Given the description of an element on the screen output the (x, y) to click on. 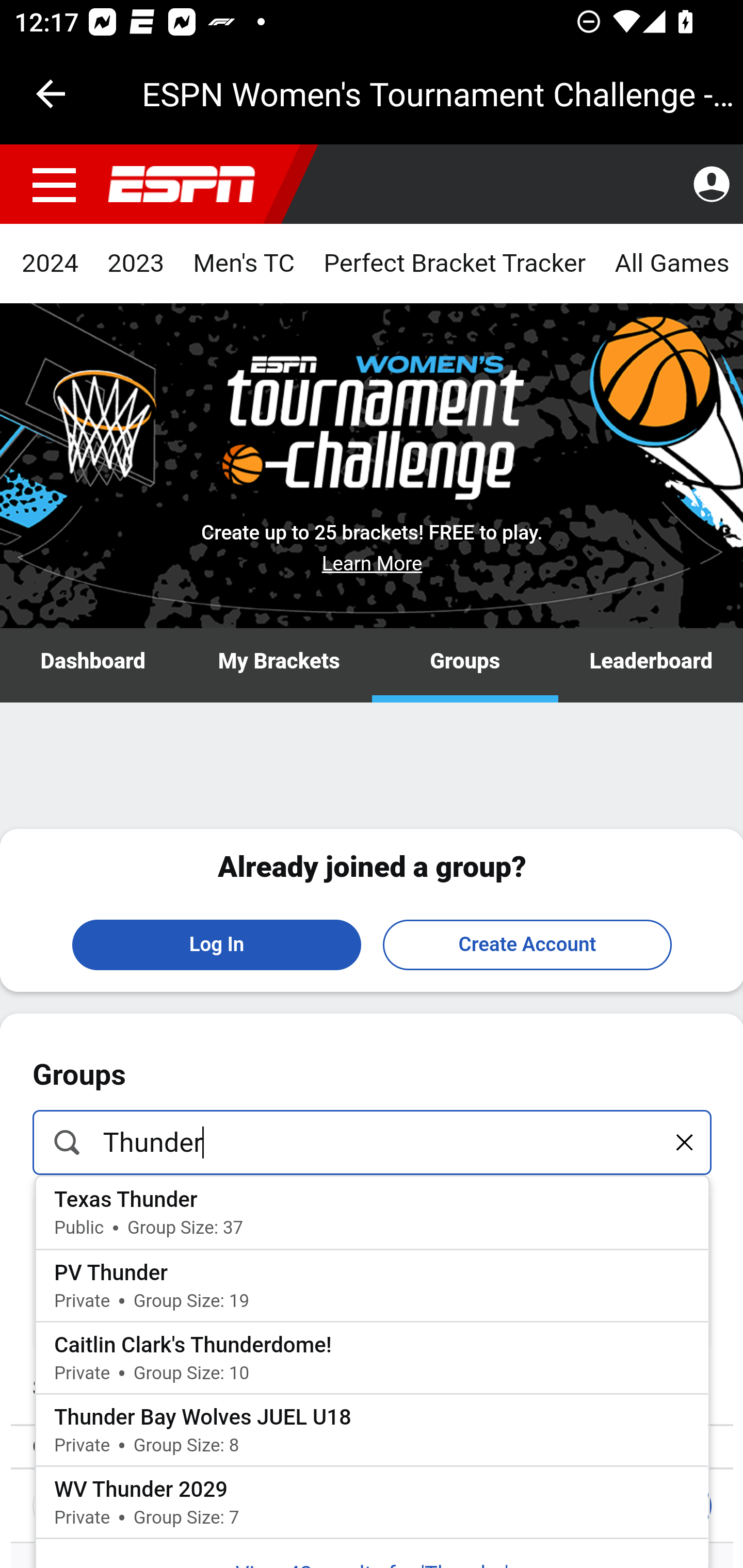
Navigate up (50, 93)
Menu (54, 184)
nav.arialabel.homepage (182, 184)
Profile Management (711, 184)
2024 (50, 264)
2023 (136, 264)
Men's TC (243, 264)
Perfect Bracket Tracker (454, 264)
All Games (671, 264)
Learn More (372, 563)
Dashboard Dashboard Dashboard (93, 666)
My Brackets My Brackets My Brackets (278, 666)
Groups Groups Groups (465, 666)
Leaderboard Leaderboard Leaderboard (649, 666)
Log In (217, 944)
Create Account (527, 944)
Thunder (372, 1141)
Texas Thunder PublicGroup Size: 37 (372, 1211)
PV Thunder PrivateGroup Size: 19 (372, 1283)
Caitlin Clark's Thunderdome! PrivateGroup Size: 10 (372, 1356)
Thunder Bay Wolves JUEL U18 PrivateGroup Size: 8 (372, 1429)
WV Thunder 2029 PrivateGroup Size: 7 (372, 1501)
